Given the description of an element on the screen output the (x, y) to click on. 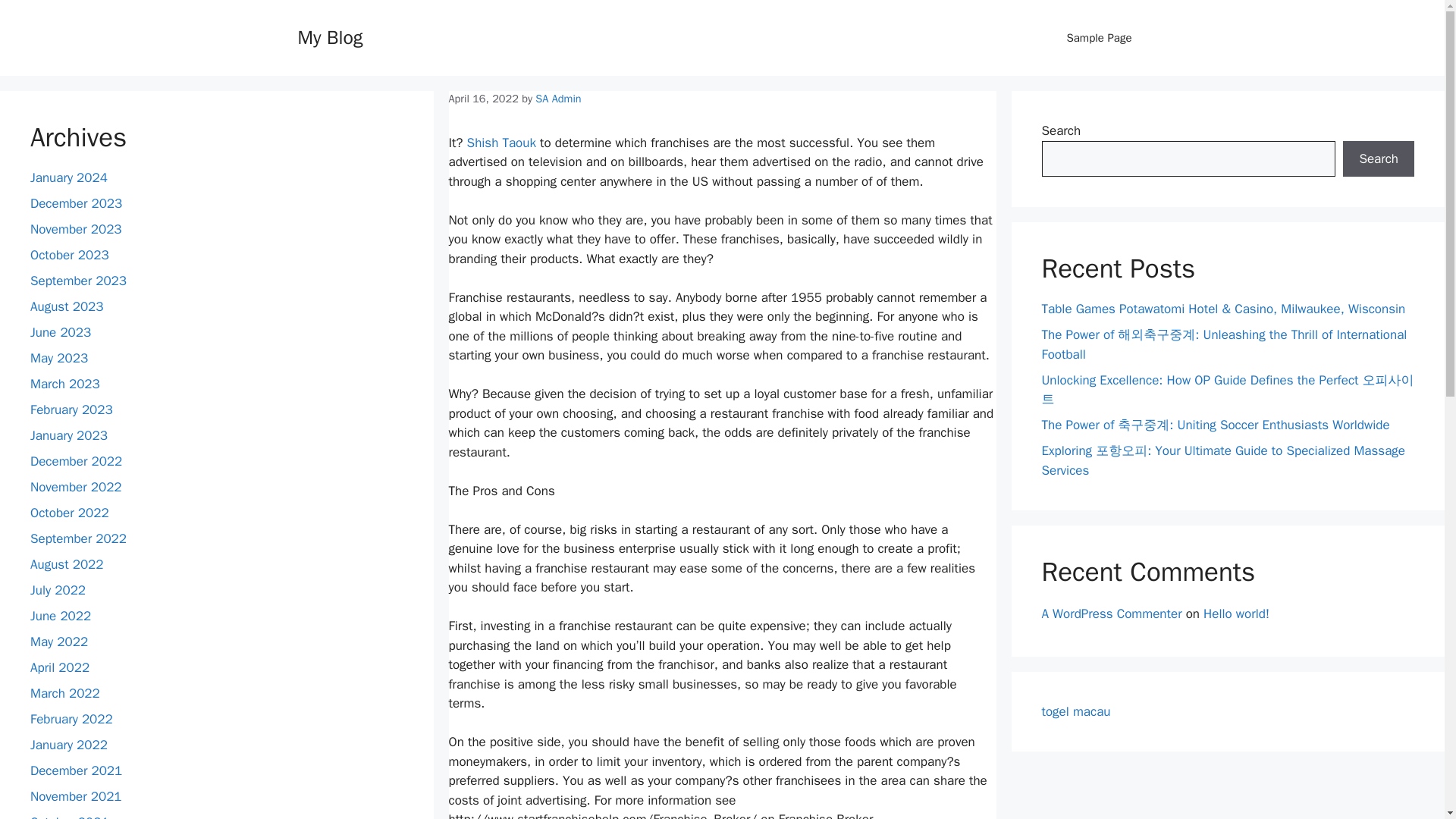
January 2022 (68, 744)
July 2022 (57, 590)
June 2022 (60, 616)
My Blog (329, 37)
February 2022 (71, 719)
June 2023 (60, 332)
November 2021 (76, 796)
March 2022 (65, 693)
December 2022 (76, 461)
May 2022 (58, 641)
